Given the description of an element on the screen output the (x, y) to click on. 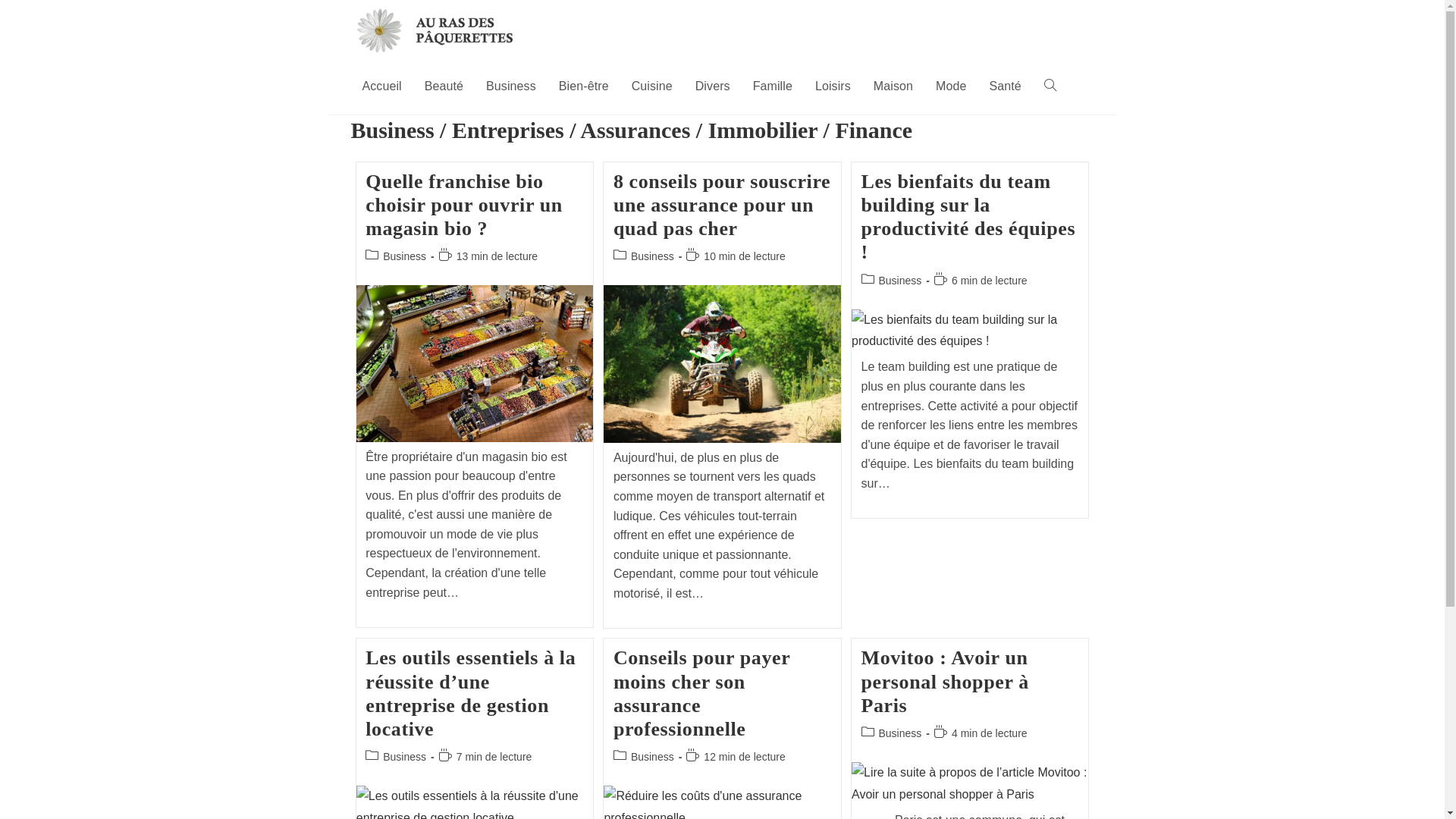
Mode Element type: text (950, 86)
Conseils pour payer moins cher son assurance professionnelle Element type: text (701, 693)
Business Element type: text (404, 756)
Business Element type: text (652, 256)
Toggle website search Element type: text (1049, 86)
Maison Element type: text (893, 86)
Quelle franchise bio choisir pour ouvrir un magasin bio ? Element type: text (463, 204)
Business Element type: text (899, 280)
Business Element type: text (404, 256)
Famille Element type: text (772, 86)
Accueil Element type: text (381, 86)
Loisirs Element type: text (832, 86)
Business Element type: text (652, 756)
Business Element type: text (510, 86)
Cuisine Element type: text (652, 86)
Business Element type: text (899, 733)
Divers Element type: text (712, 86)
